Given the description of an element on the screen output the (x, y) to click on. 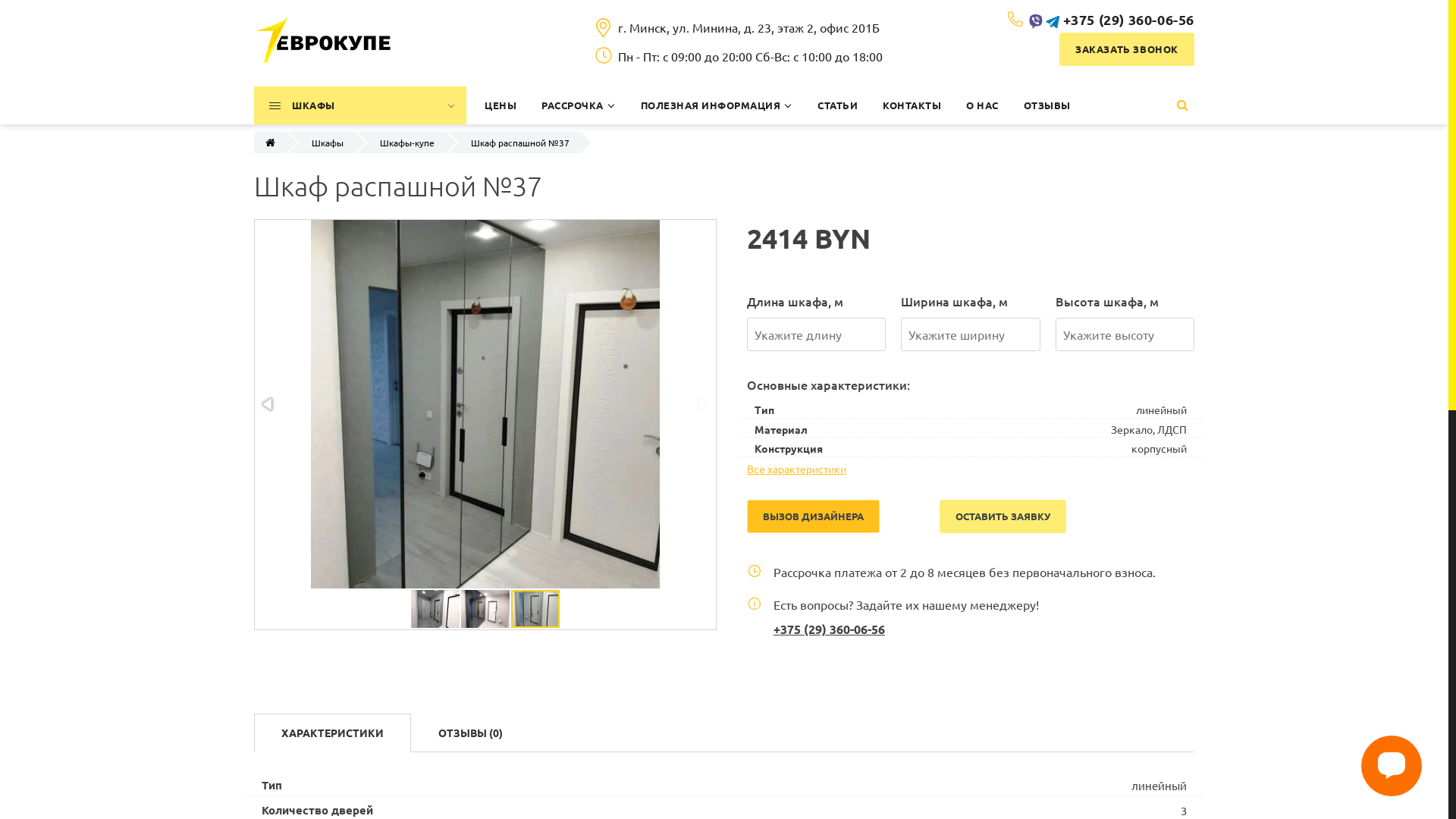
+375 (29) 360-06-56 Element type: text (828, 629)
+375 (29) 360-06-56 Element type: text (1128, 19)
